Given the description of an element on the screen output the (x, y) to click on. 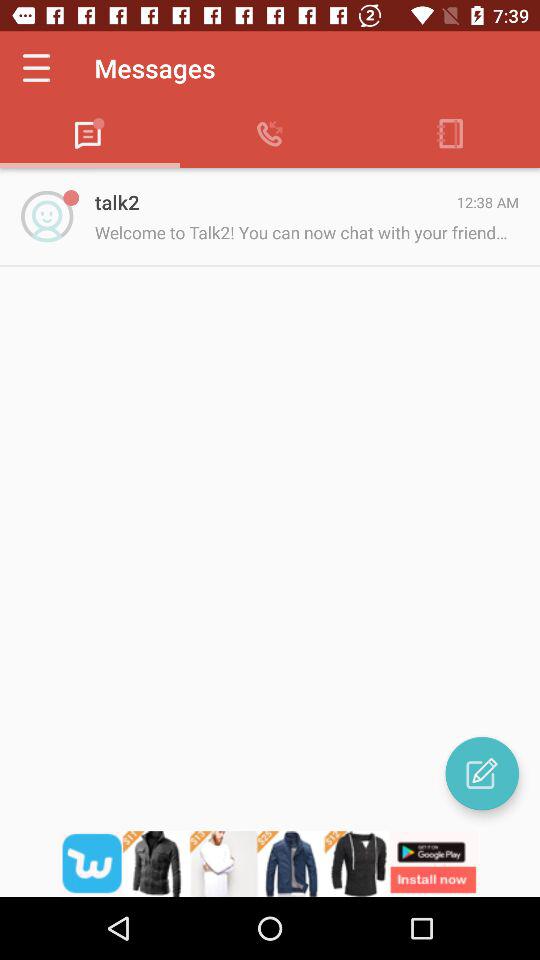
open advertisement (270, 864)
